Given the description of an element on the screen output the (x, y) to click on. 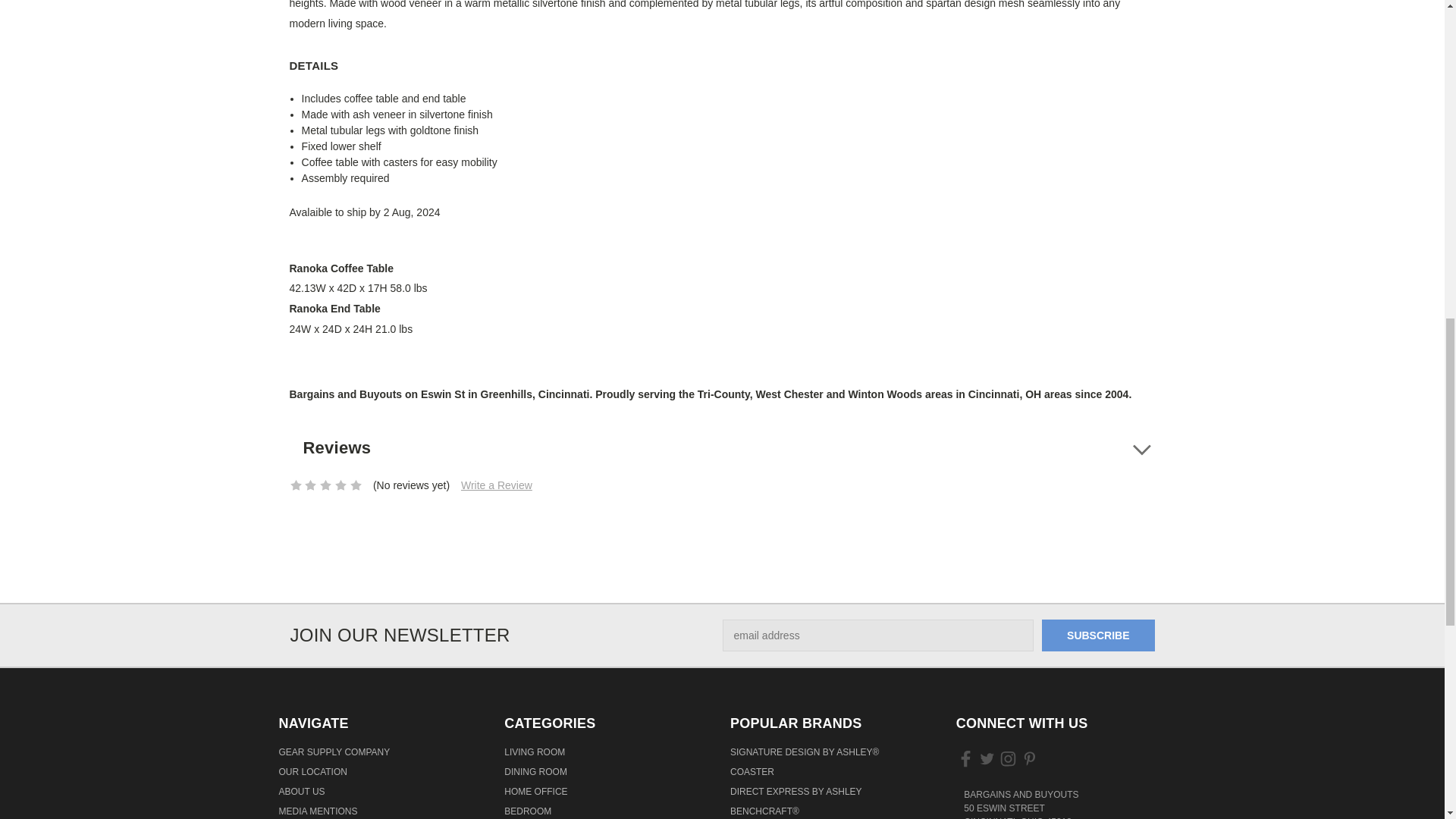
Subscribe (1098, 635)
